Given the description of an element on the screen output the (x, y) to click on. 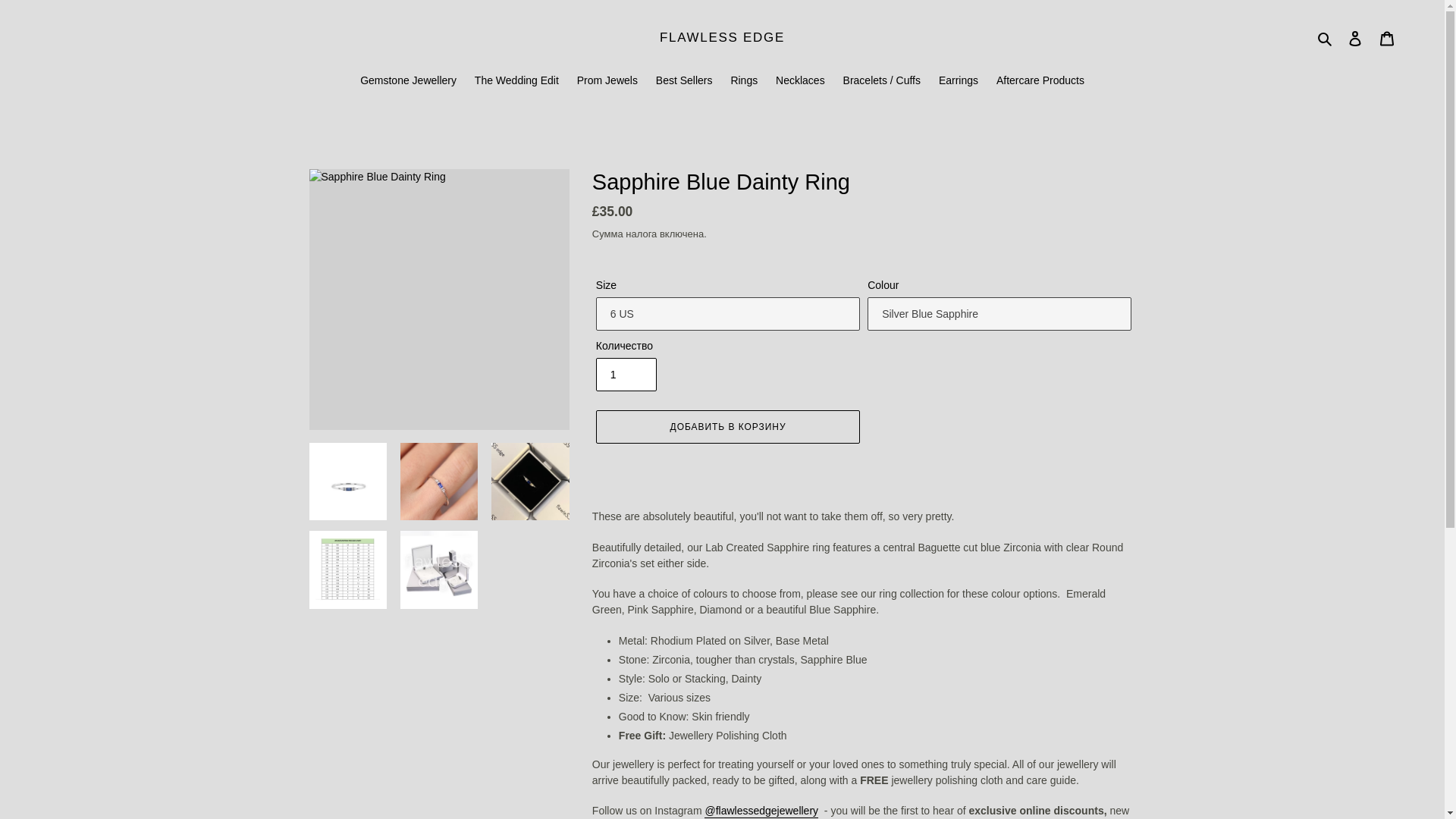
1 (625, 374)
Best Sellers (683, 81)
flawleSS edge Instagram page (761, 811)
Necklaces (800, 81)
The Wedding Edit (516, 81)
Earrings (958, 81)
Prom Jewels (607, 81)
FLAWLESS EDGE (721, 37)
Gemstone Jewellery (408, 81)
Aftercare Products (1040, 81)
